Given the description of an element on the screen output the (x, y) to click on. 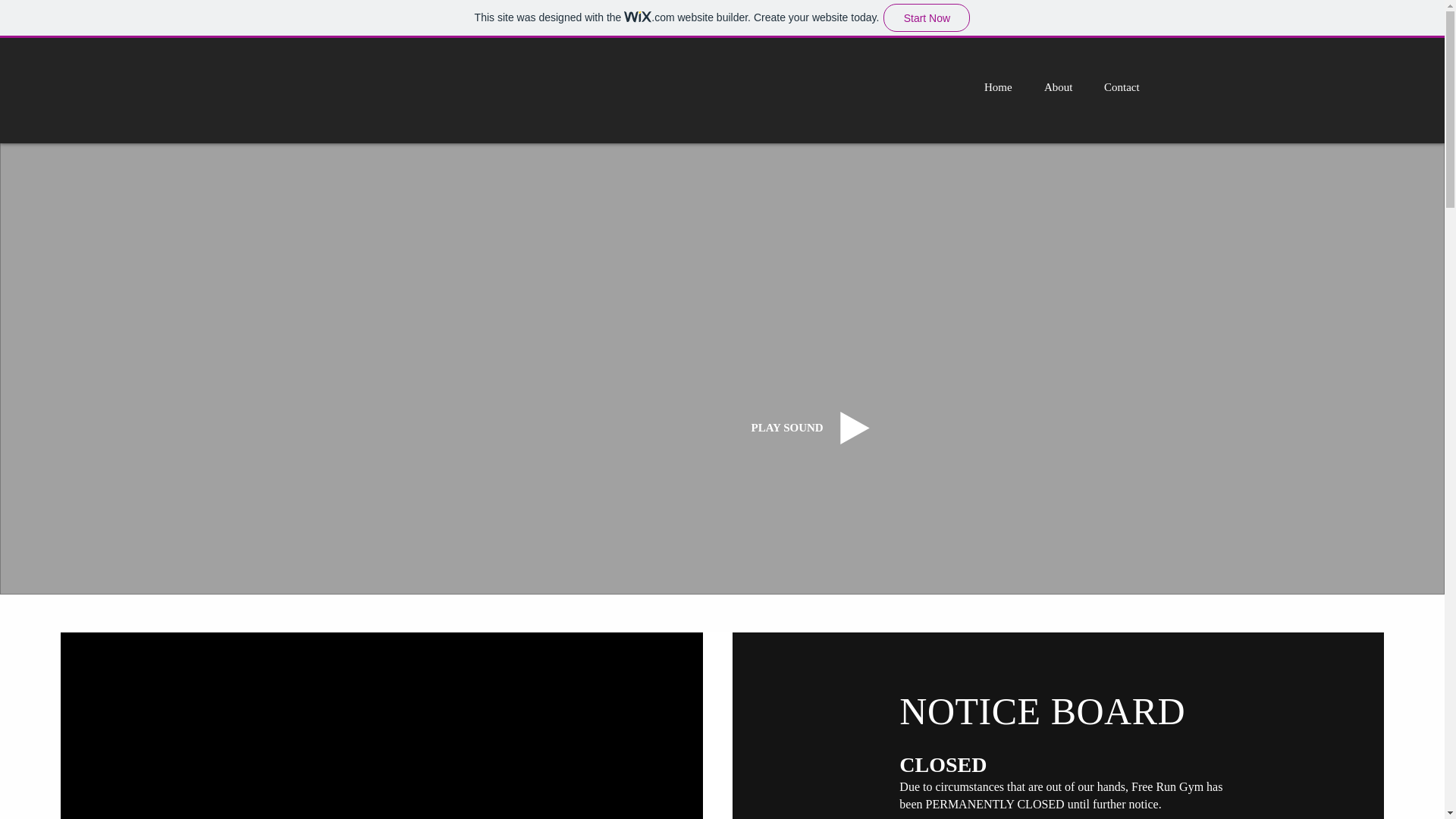
Contact (1125, 86)
About (1062, 86)
Home (1002, 86)
